Given the description of an element on the screen output the (x, y) to click on. 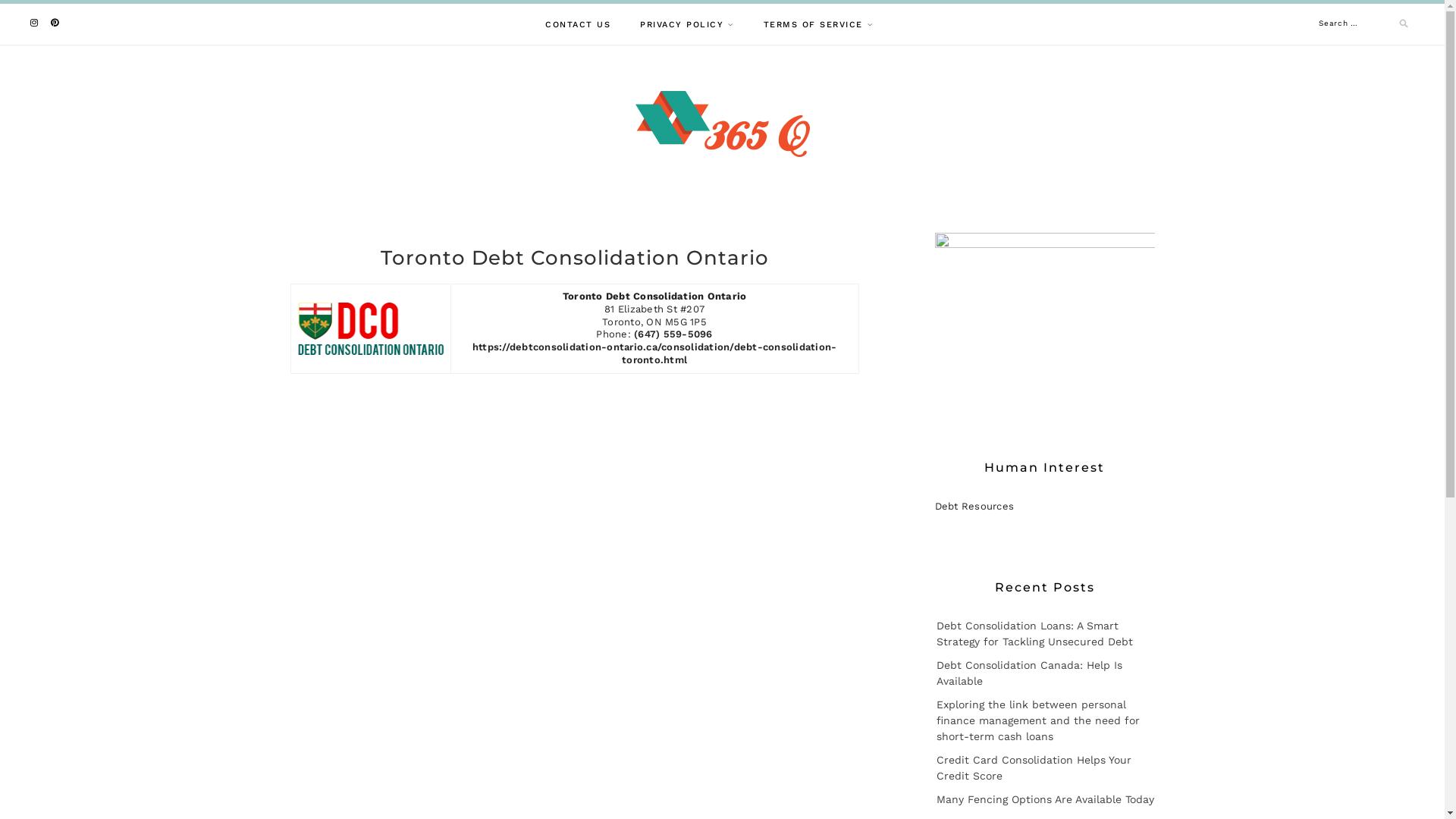
(647) 559-5096 Element type: text (672, 333)
PRIVACY POLICY Element type: text (687, 24)
Debt Consolidation Canada: Help Is Available Element type: text (1028, 672)
Many Fencing Options Are Available Today Element type: text (1044, 799)
TERMS OF SERVICE Element type: text (817, 24)
Debt Resources Element type: text (973, 505)
Credit Card Consolidation Helps Your Credit Score Element type: text (1032, 767)
Search Element type: text (53, 7)
CONTACT US Element type: text (577, 24)
